Given the description of an element on the screen output the (x, y) to click on. 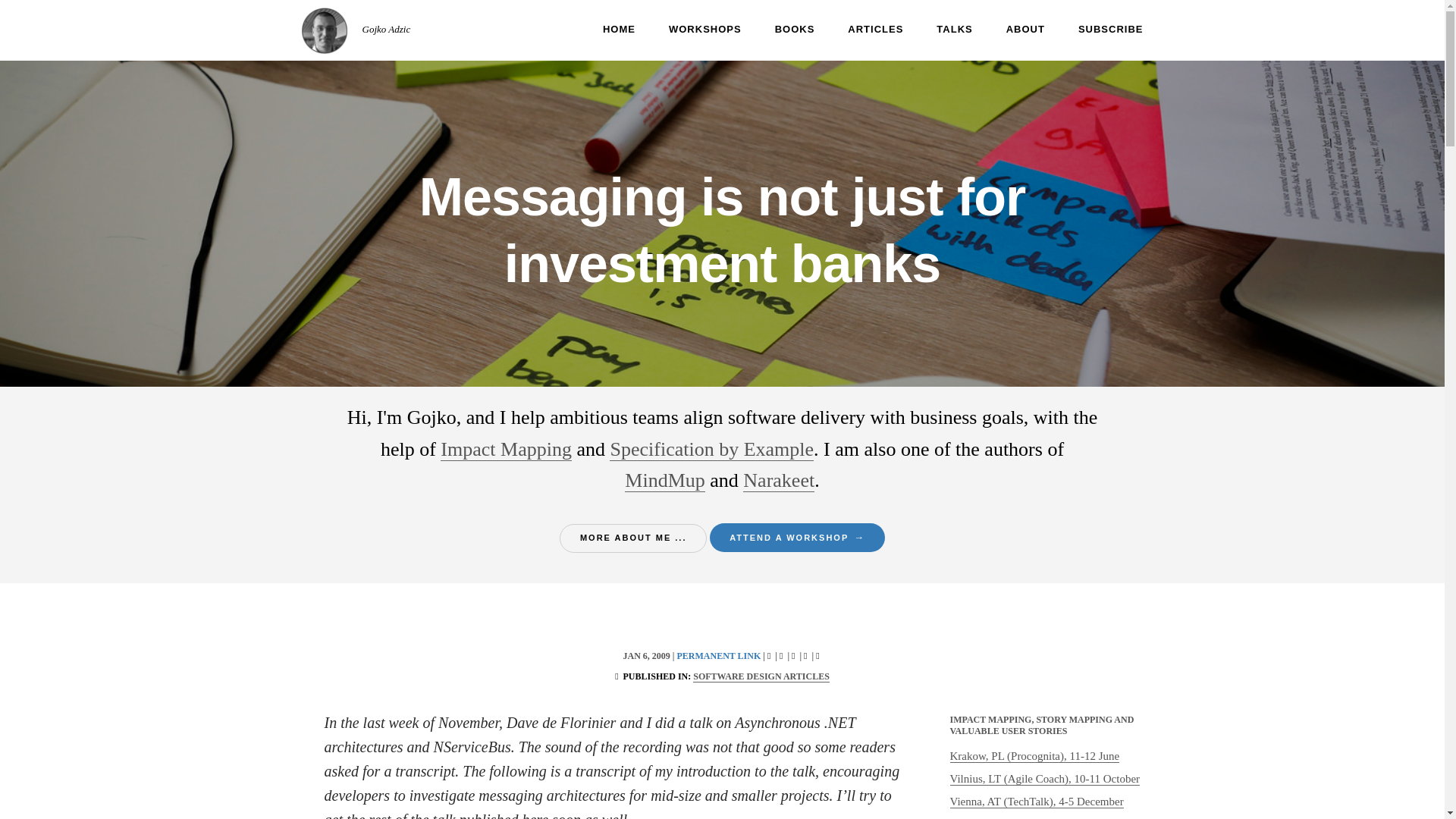
MindMup (664, 480)
Gojko Adzic (386, 29)
Impact Mapping (506, 449)
HOME (601, 29)
MORE ABOUT ME ... (633, 538)
ABOUT (1008, 29)
WORKSHOPS (687, 29)
SOFTWARE DESIGN ARTICLES (761, 676)
BOOKS (778, 29)
Narakeet (777, 480)
SUBSCRIBE (1093, 29)
Specification by Example (711, 449)
PERMANENT LINK (718, 655)
TALKS (937, 29)
ARTICLES (857, 29)
